Given the description of an element on the screen output the (x, y) to click on. 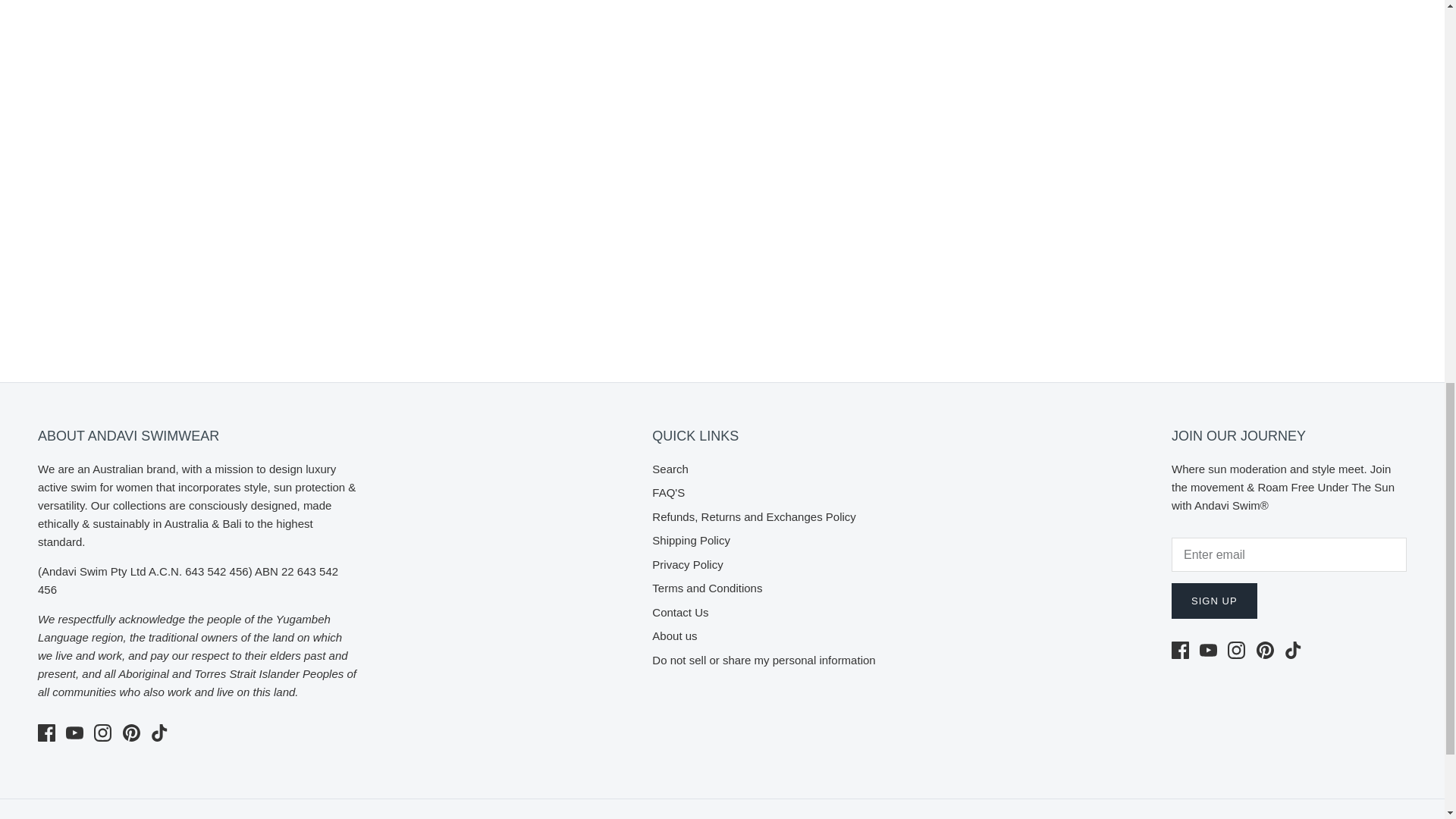
Instagram (1235, 650)
Pinterest (1265, 650)
Facebook (46, 732)
Facebook (1180, 650)
Pinterest (130, 732)
Youtube (1208, 650)
Youtube (73, 732)
Instagram (103, 732)
